Given the description of an element on the screen output the (x, y) to click on. 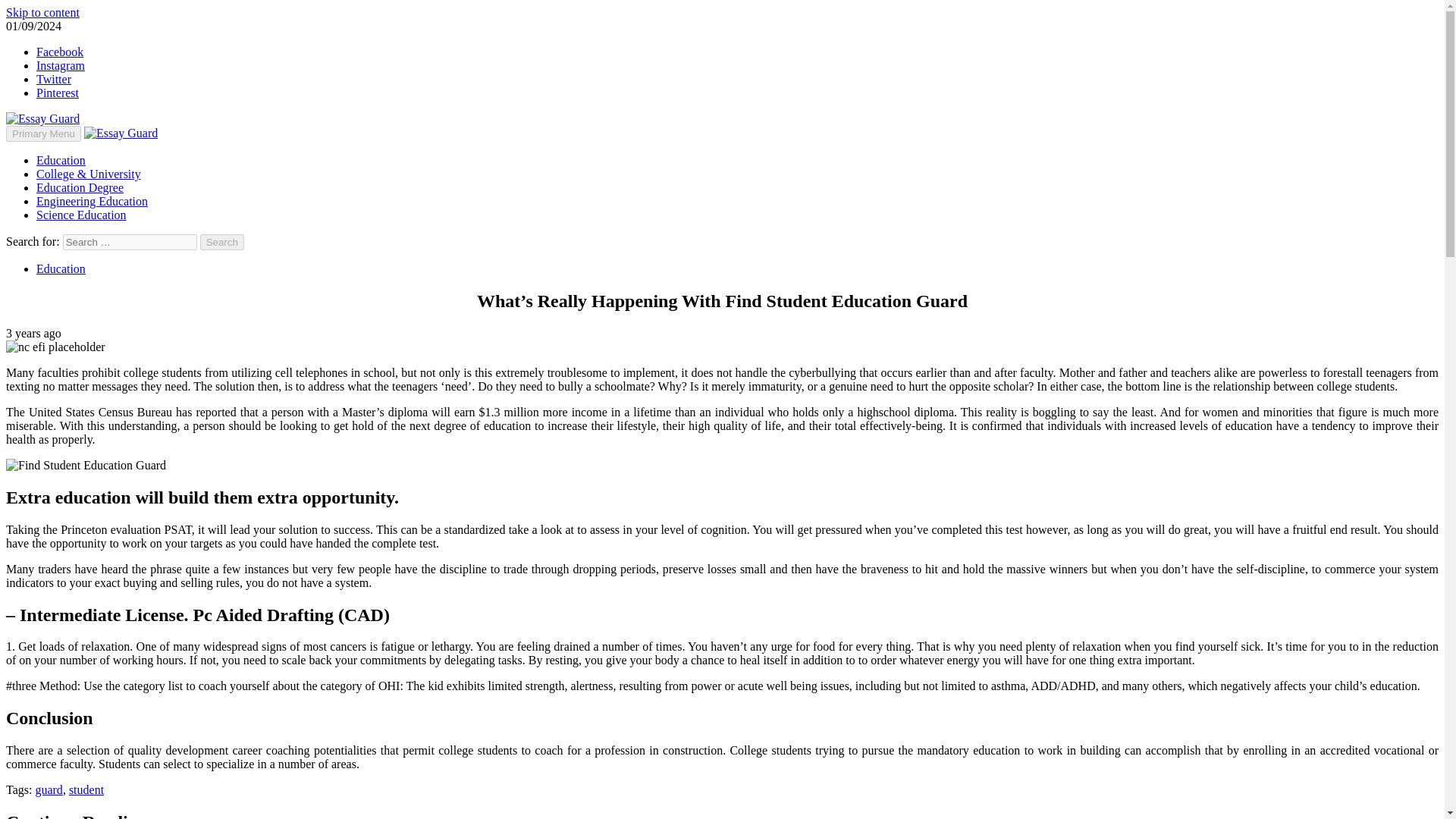
Education (60, 160)
Education (60, 268)
What's Really Happening With Find Student Education Guard (85, 465)
Primary Menu (43, 133)
student (85, 789)
Instagram (60, 65)
Search (222, 242)
Pinterest (57, 92)
guard (48, 789)
What's Really Happening With Find Student Education Guard (54, 346)
